Given the description of an element on the screen output the (x, y) to click on. 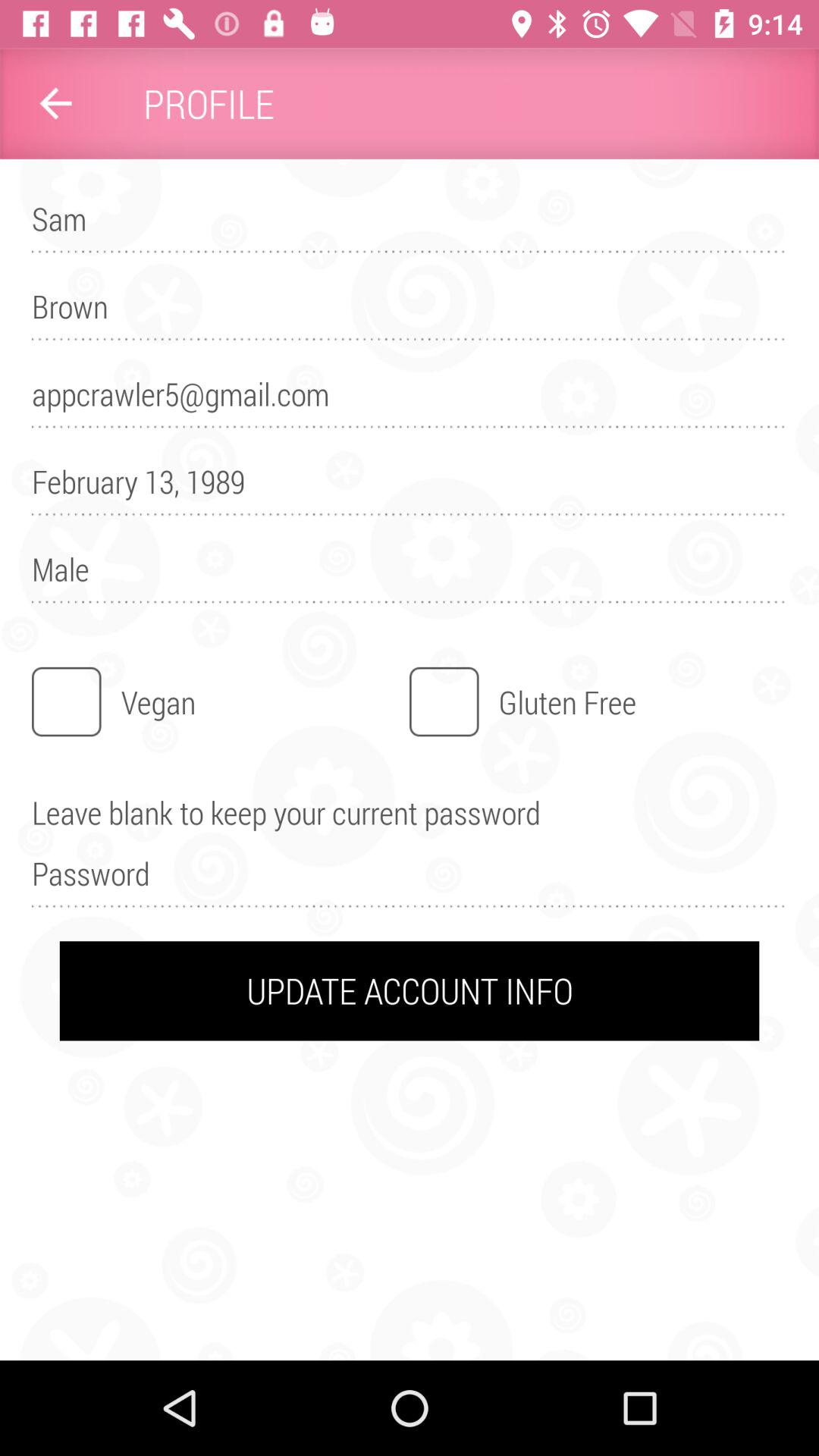
launch item above sam item (55, 103)
